Given the description of an element on the screen output the (x, y) to click on. 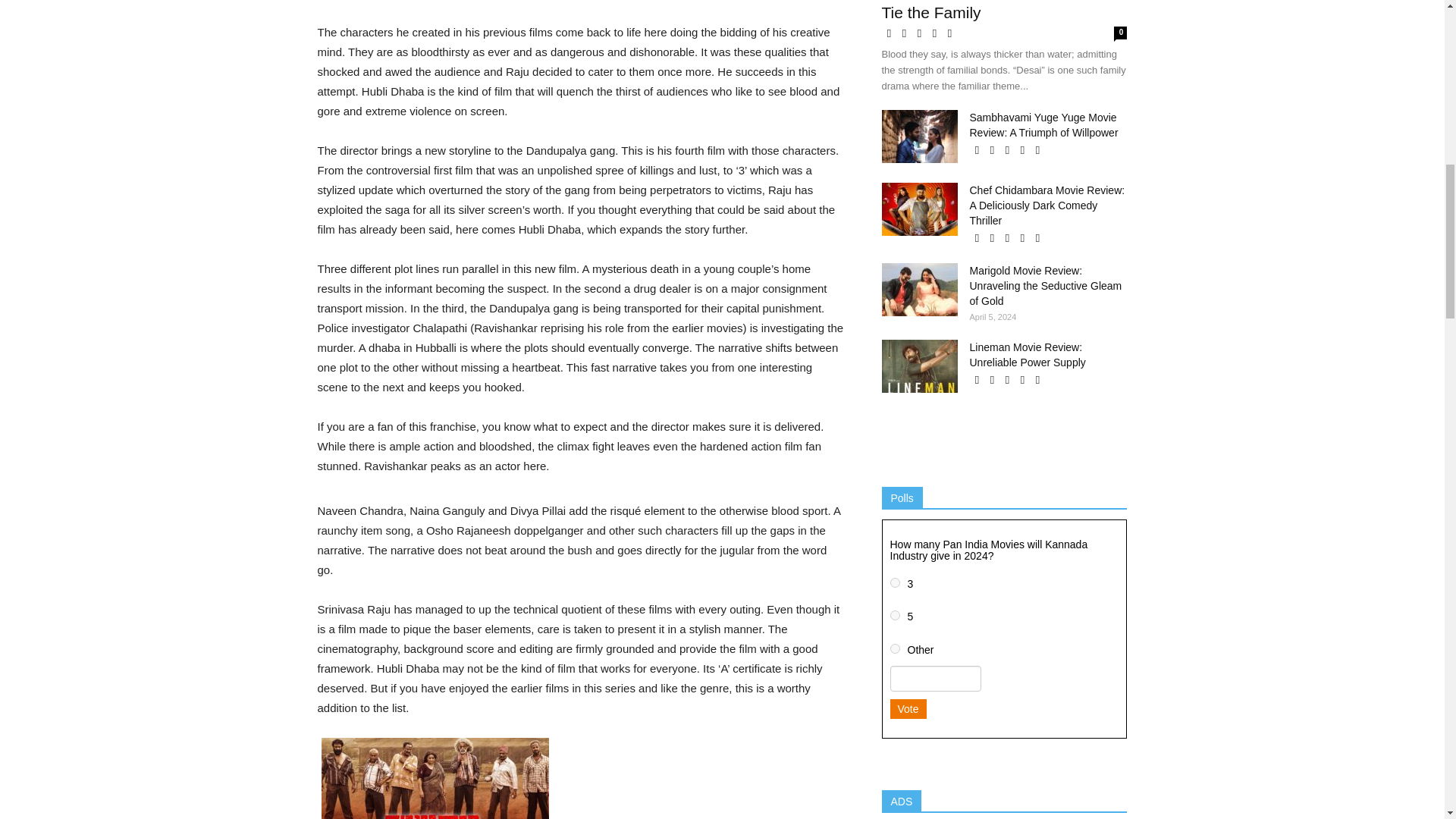
18 (894, 583)
0 (894, 648)
17 (894, 614)
